Given the description of an element on the screen output the (x, y) to click on. 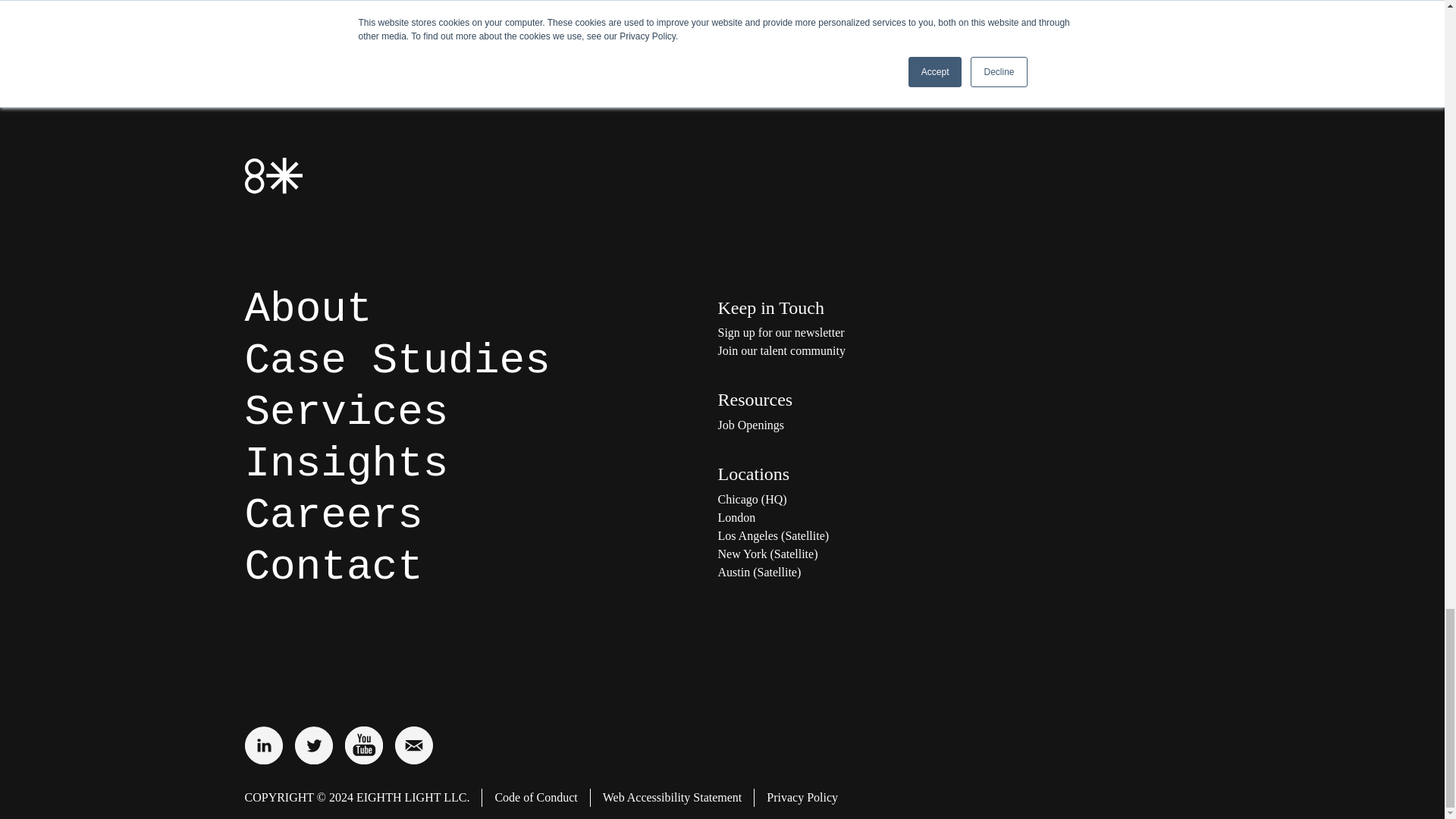
Case Studies (397, 360)
Services (346, 412)
Job Openings (868, 425)
Insights (346, 463)
Contact (333, 566)
Careers (333, 515)
About (307, 309)
Join our talent community (868, 351)
Sign up for our newsletter (868, 332)
